Given the description of an element on the screen output the (x, y) to click on. 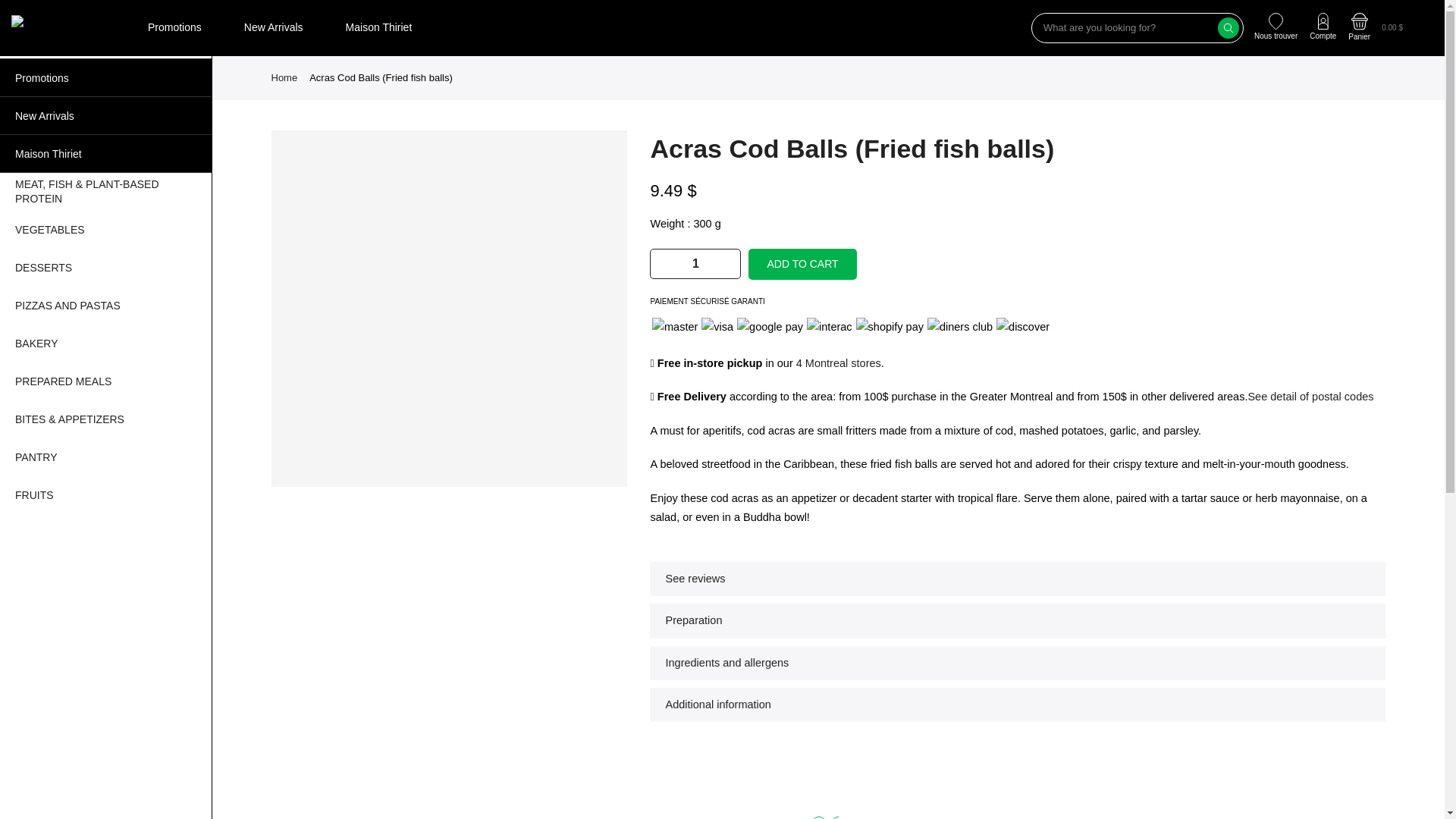
Panier (1359, 28)
1 (695, 263)
Promotions (175, 27)
Maison Thiriet (379, 27)
Nous trouver (1275, 28)
New Arrivals (273, 27)
VEGETABLES (105, 229)
New Arrivals (105, 116)
PIZZAS AND PASTAS (105, 305)
Compte (1322, 28)
Maison Thiriet (105, 153)
DESSERTS (105, 267)
Promotions (105, 77)
